Given the description of an element on the screen output the (x, y) to click on. 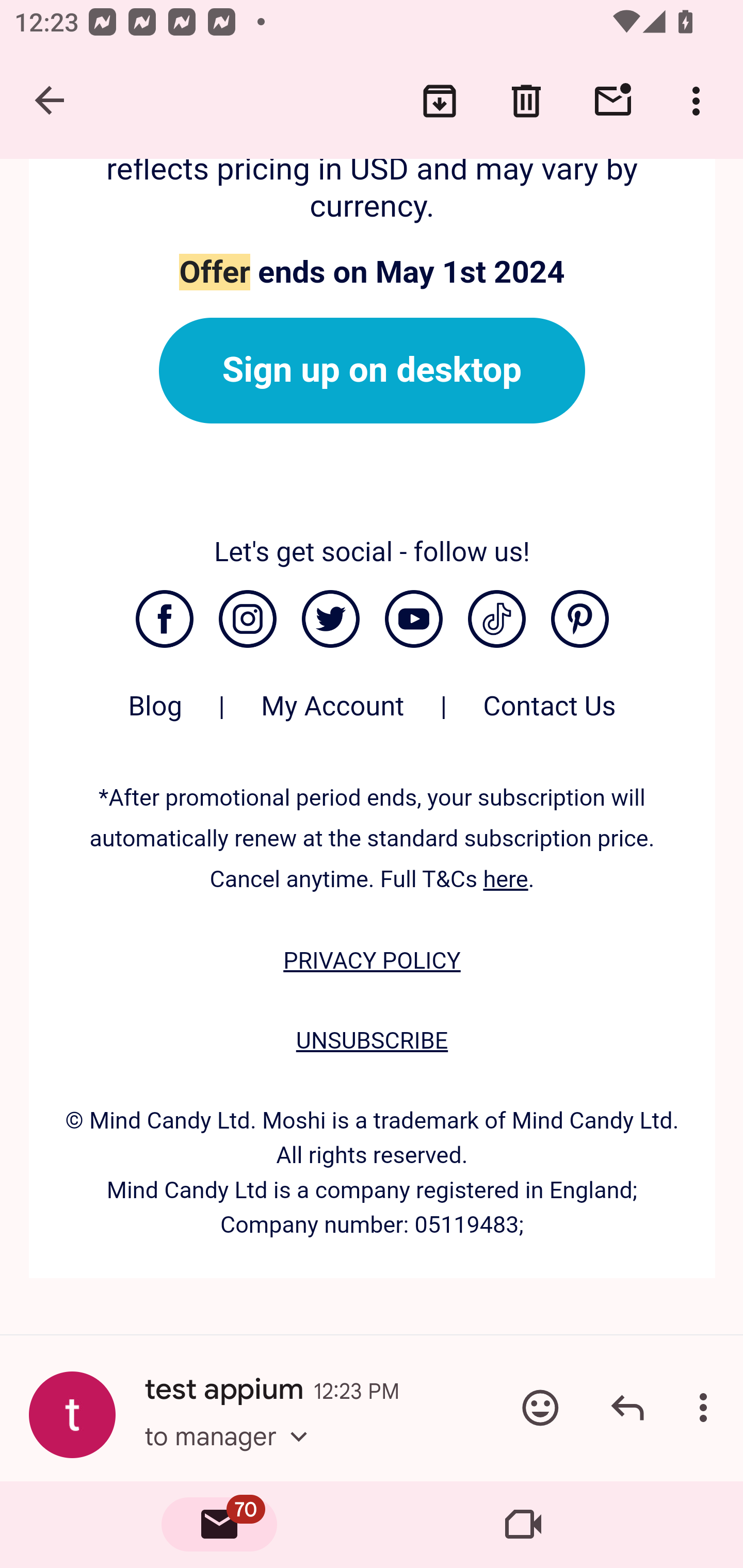
Navigate up (50, 101)
Archive (439, 101)
Delete (525, 101)
Mark unread (612, 101)
More options (699, 101)
Sign up on desktop (372, 370)
Facebook (163, 619)
Instagram (246, 619)
Twitter (330, 619)
YouTube (413, 619)
Custom (496, 619)
Pinterest (579, 619)
Blog (155, 715)
My Account (332, 715)
Contact Us (549, 715)
here (505, 878)
PRIVACY POLICY (371, 960)
UNSUBSCRIBE (371, 1040)
Add emoji reaction (540, 1407)
Reply (626, 1407)
More options (706, 1407)
Show contact information for test appium (71, 1415)
to manager (232, 1446)
Meet (523, 1524)
